Given the description of an element on the screen output the (x, y) to click on. 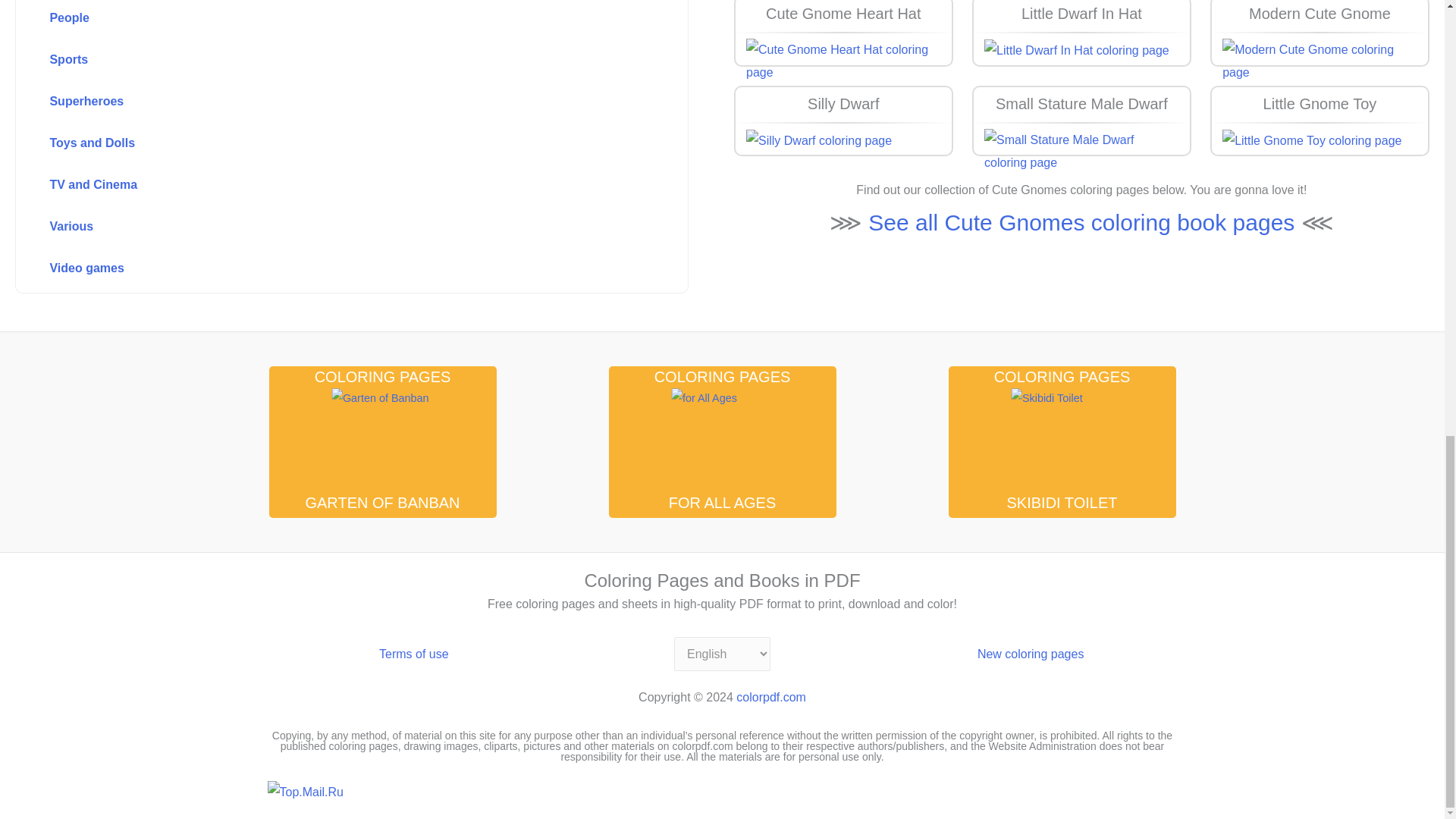
Sports (318, 60)
TV and Cinema coloring pages (318, 185)
Various (318, 227)
Superheroes (318, 101)
Video games (318, 268)
People coloring pages (318, 19)
Sports coloring pages (318, 60)
People (318, 19)
TV and Cinema (318, 185)
Toys and Dolls (318, 143)
